Given the description of an element on the screen output the (x, y) to click on. 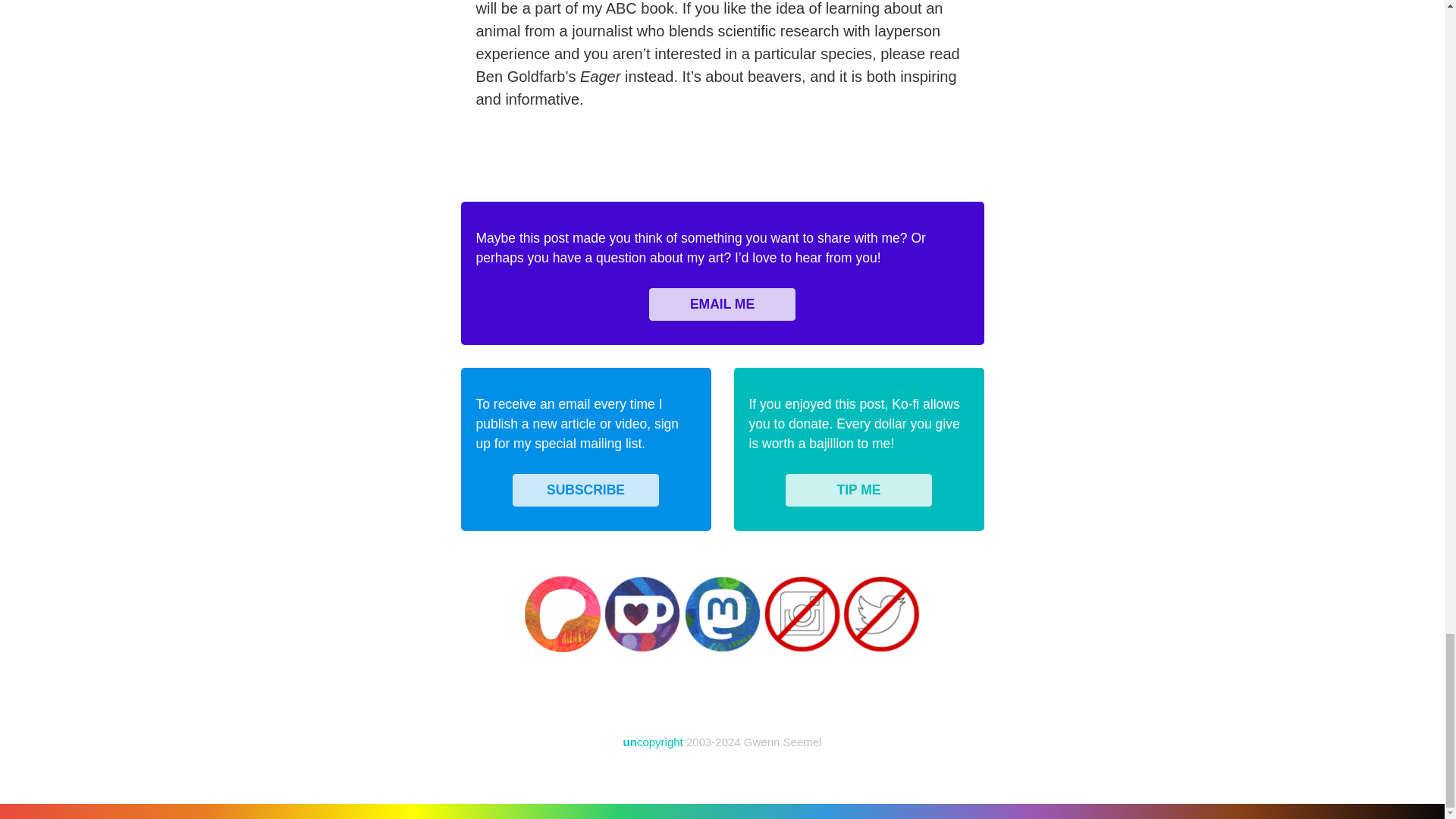
SUBSCRIBE (585, 490)
